Given the description of an element on the screen output the (x, y) to click on. 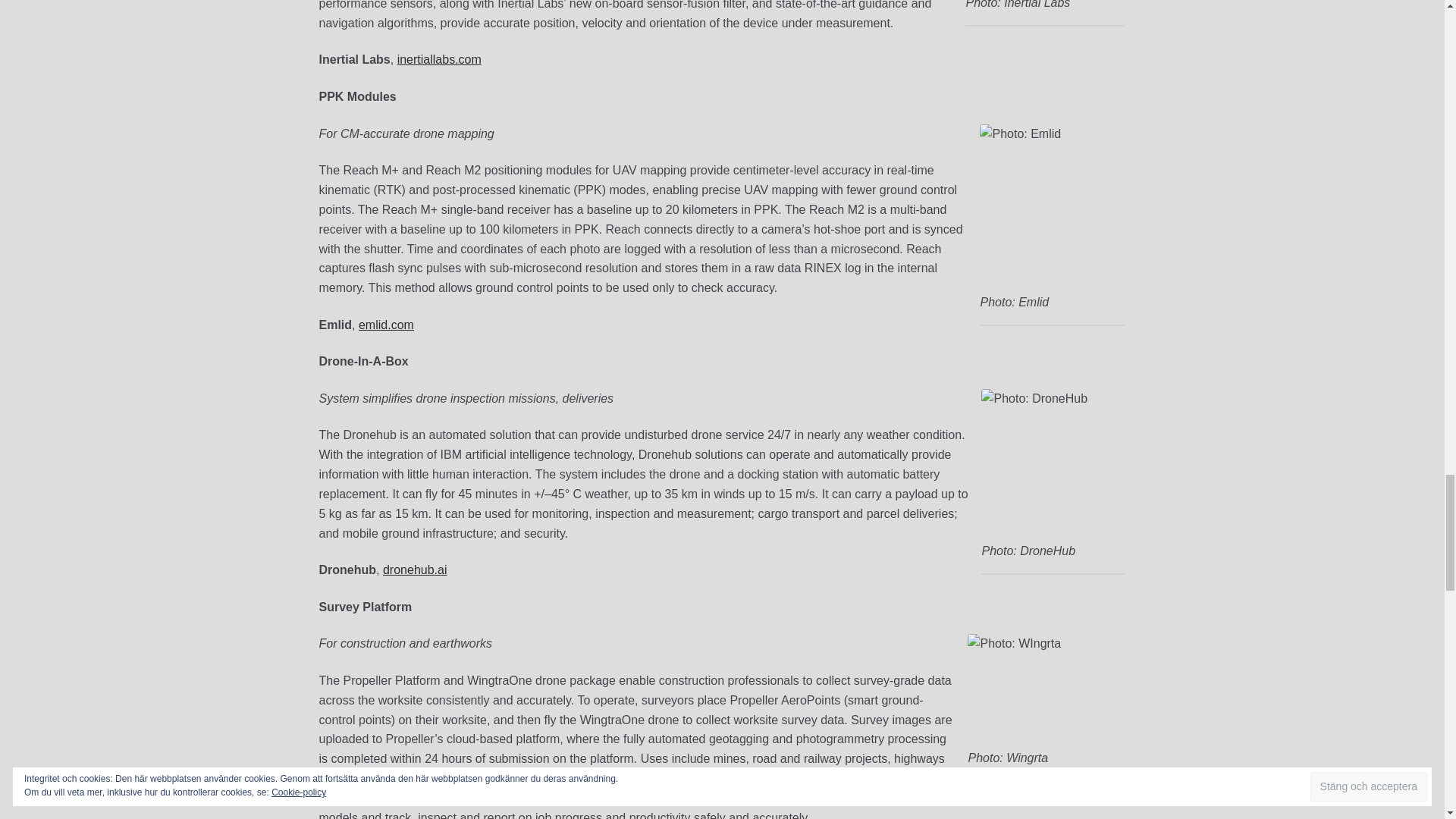
inertiallabs.com (439, 59)
dronehub.ai (414, 569)
emlid.com (385, 324)
